Given the description of an element on the screen output the (x, y) to click on. 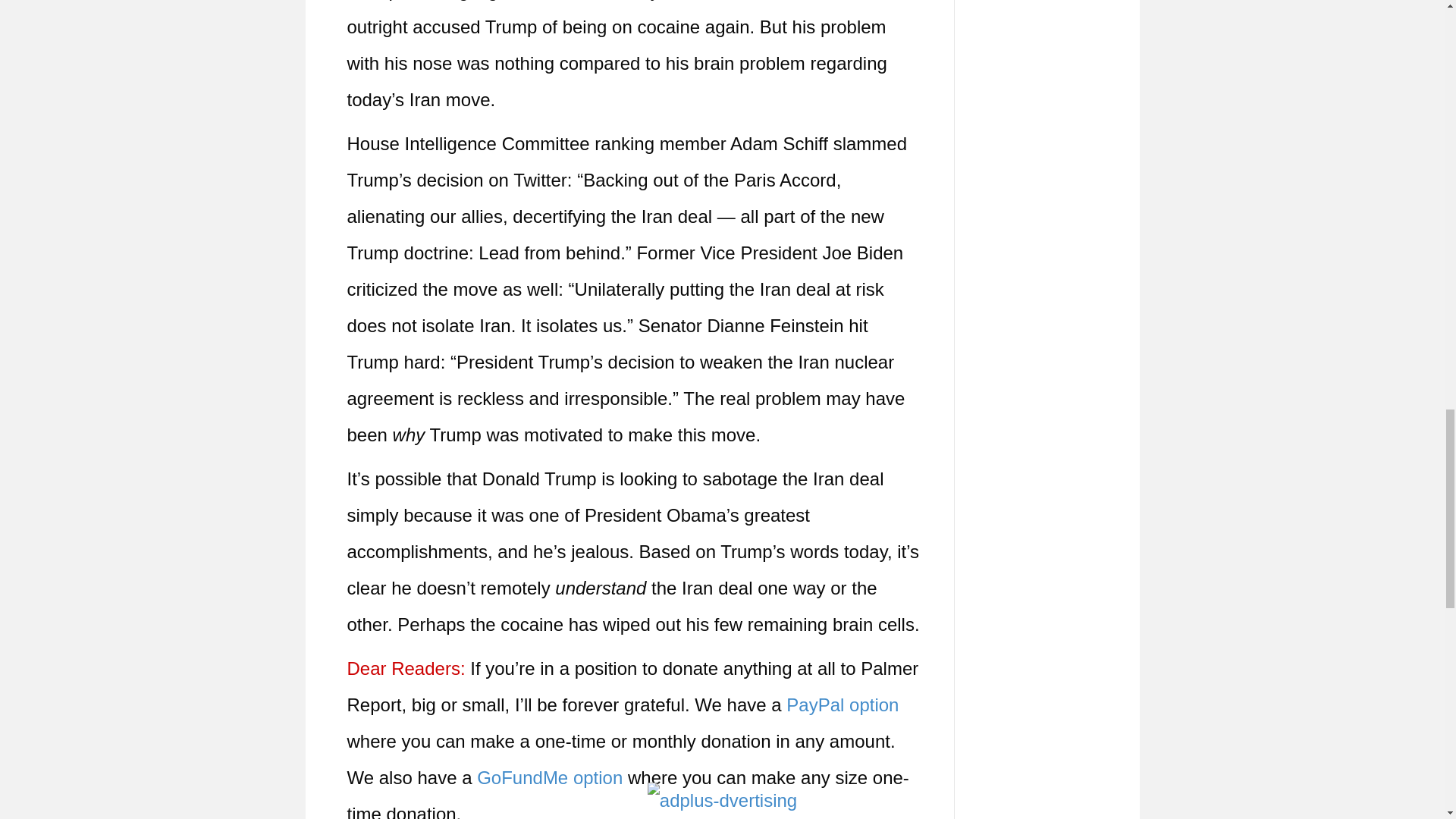
PayPal option (842, 704)
GoFundMe option (550, 777)
